Given the description of an element on the screen output the (x, y) to click on. 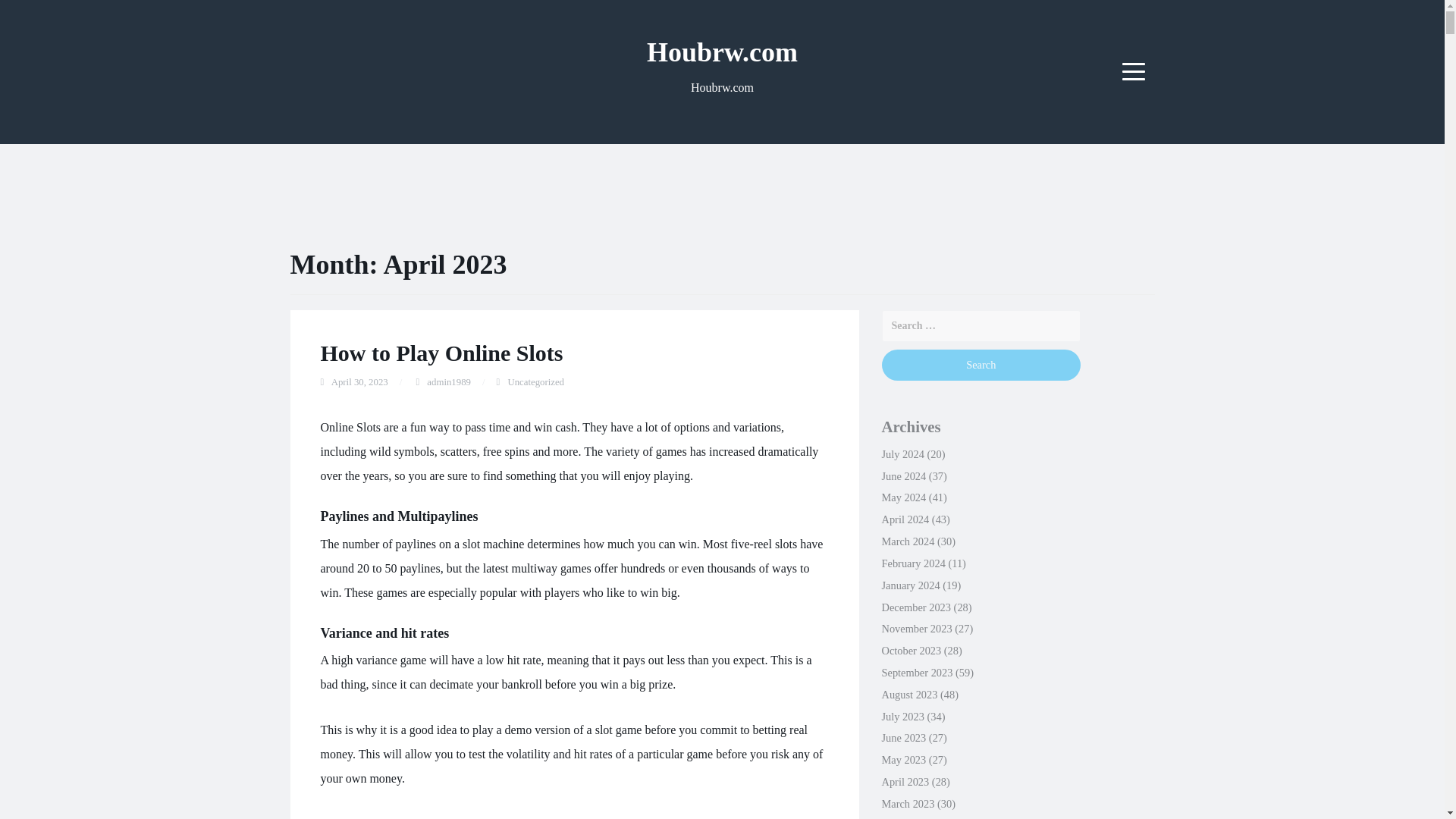
Uncategorized (535, 381)
Search (980, 364)
Search (980, 364)
April 30, 2023 (359, 381)
How to Play Online Slots (441, 352)
admin1989 (448, 381)
Houbrw.com (721, 51)
Menu (1133, 71)
